Given the description of an element on the screen output the (x, y) to click on. 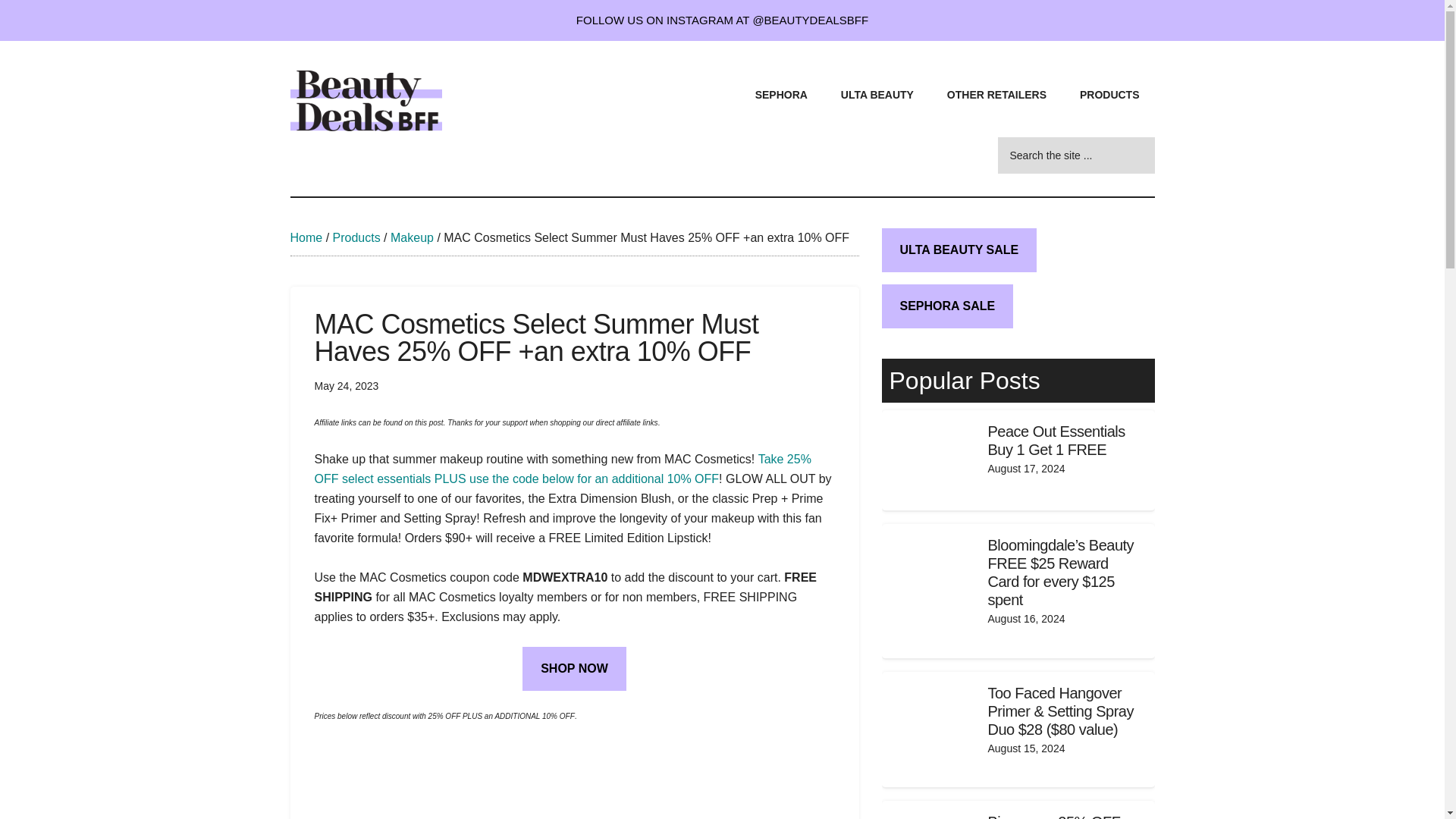
ULTA BEAUTY (876, 93)
Products (356, 237)
SEPHORA (780, 93)
SHOP NOW (574, 669)
OTHER RETAILERS (996, 93)
Makeup (411, 237)
Home (305, 237)
